Given the description of an element on the screen output the (x, y) to click on. 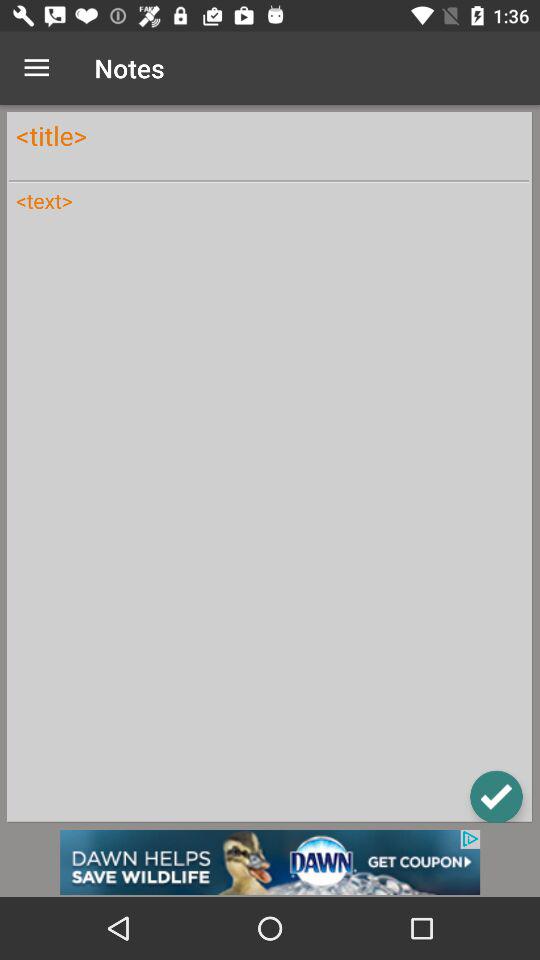
enter title (269, 135)
